Given the description of an element on the screen output the (x, y) to click on. 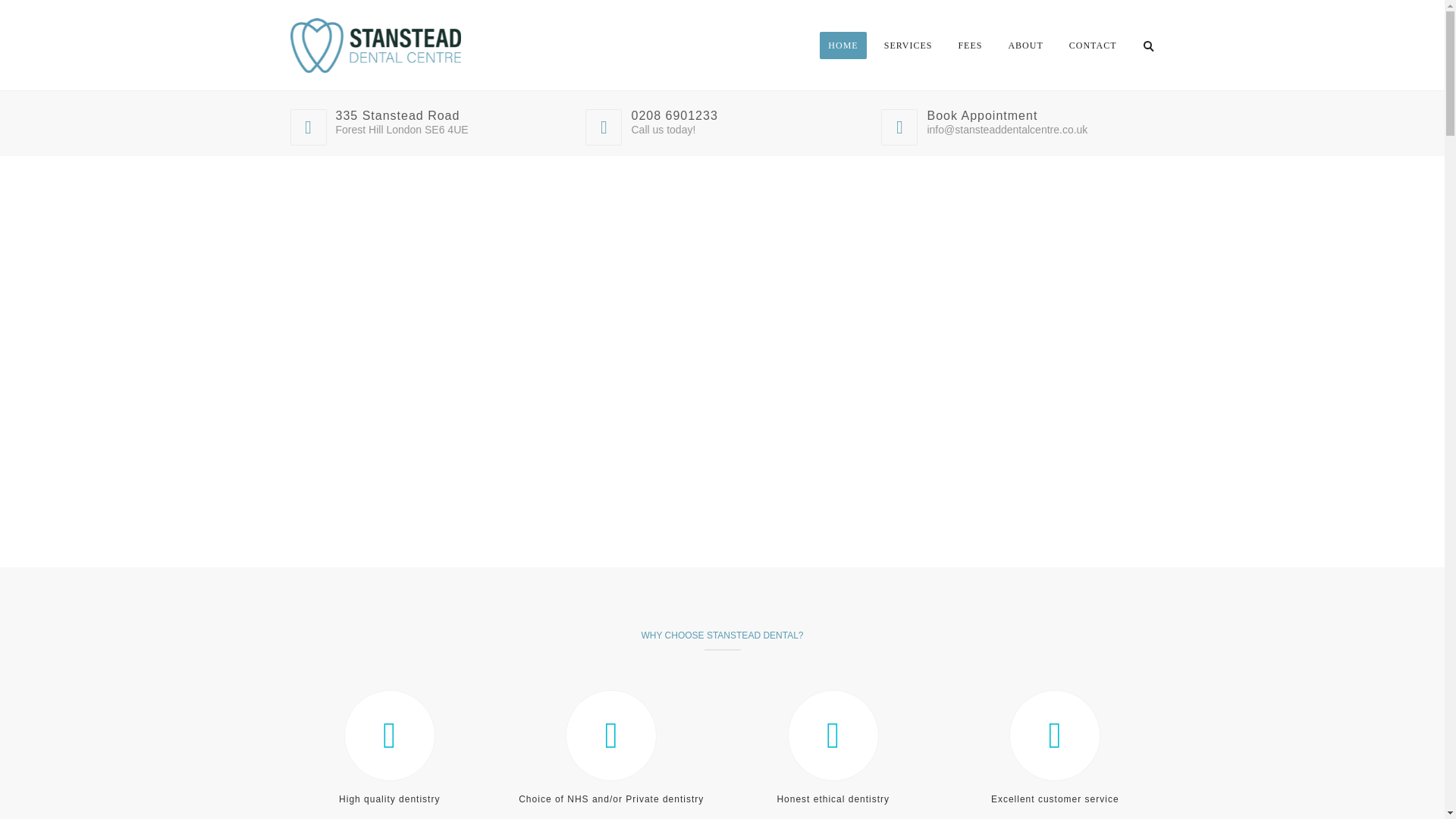
HOME (842, 44)
CONTACT (1093, 44)
FEES (969, 44)
SERVICES (908, 44)
ABOUT (1024, 44)
